Given the description of an element on the screen output the (x, y) to click on. 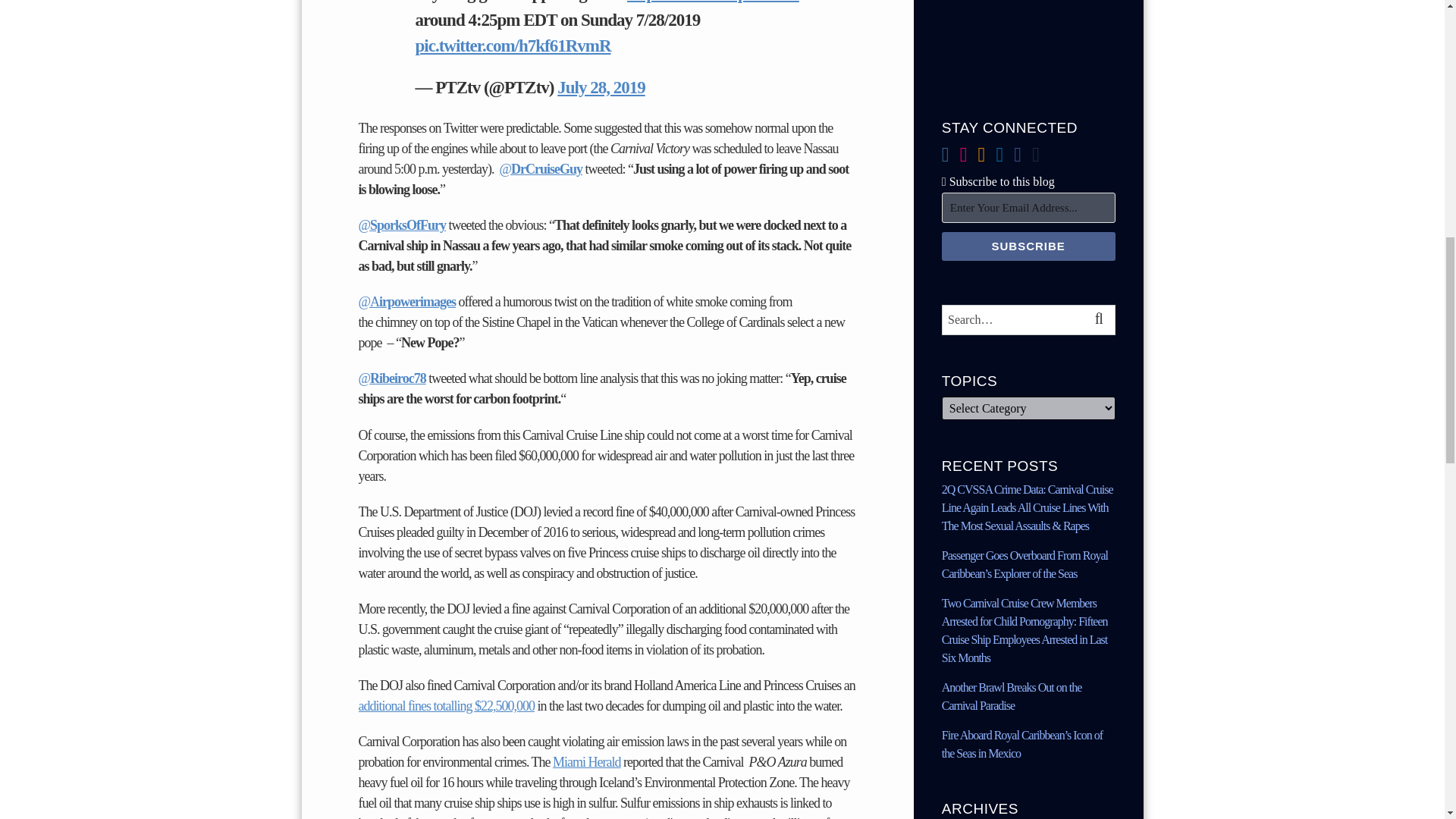
Subscribe (1028, 246)
July 28, 2019 (601, 87)
Miami Herald (586, 761)
